Given the description of an element on the screen output the (x, y) to click on. 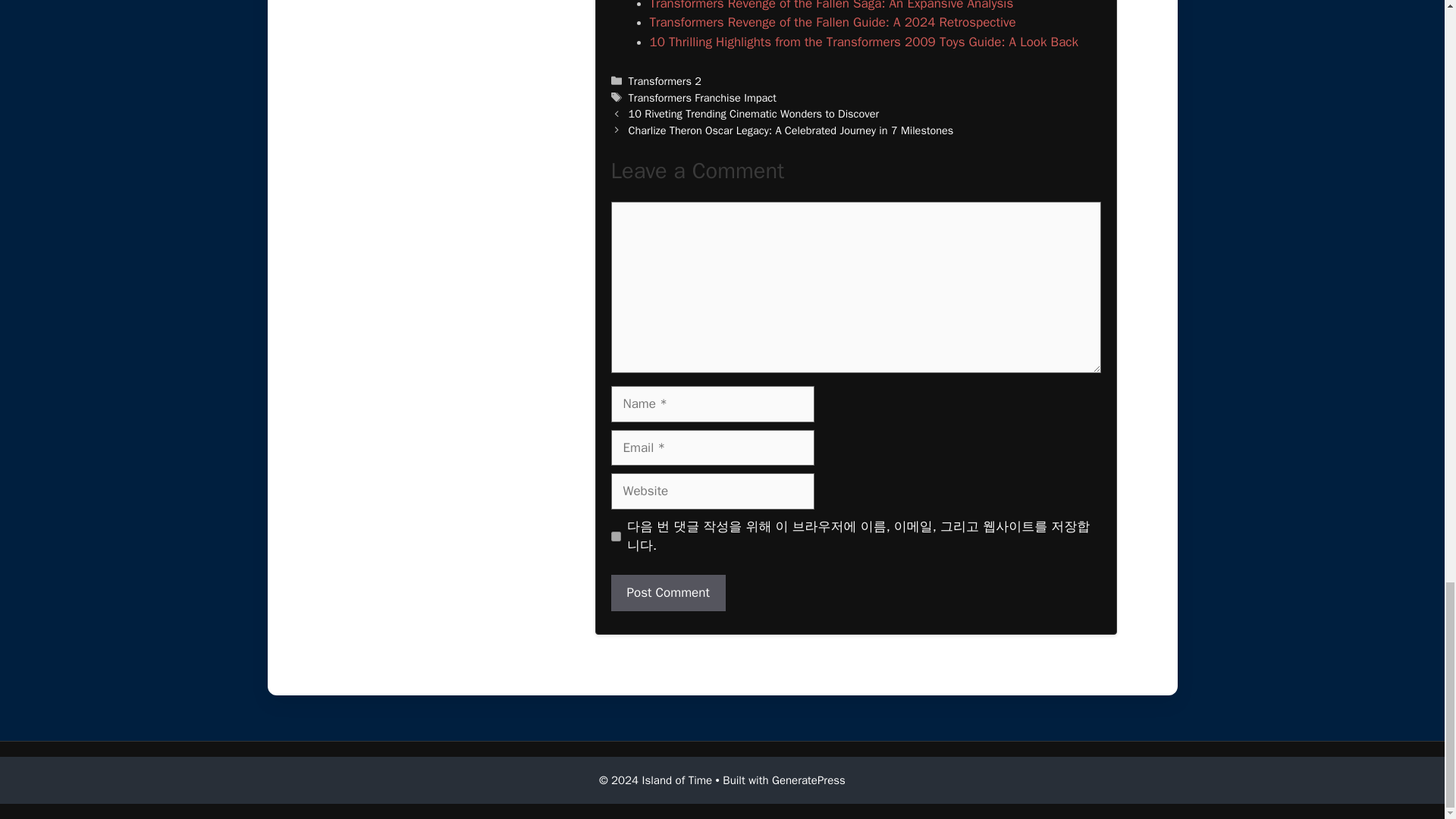
Post Comment (668, 592)
Transformers Franchise Impact (702, 97)
Transformers 2 (664, 80)
yes (616, 536)
Post Comment (668, 592)
10 Riveting Trending Cinematic Wonders to Discover (753, 113)
